Given the description of an element on the screen output the (x, y) to click on. 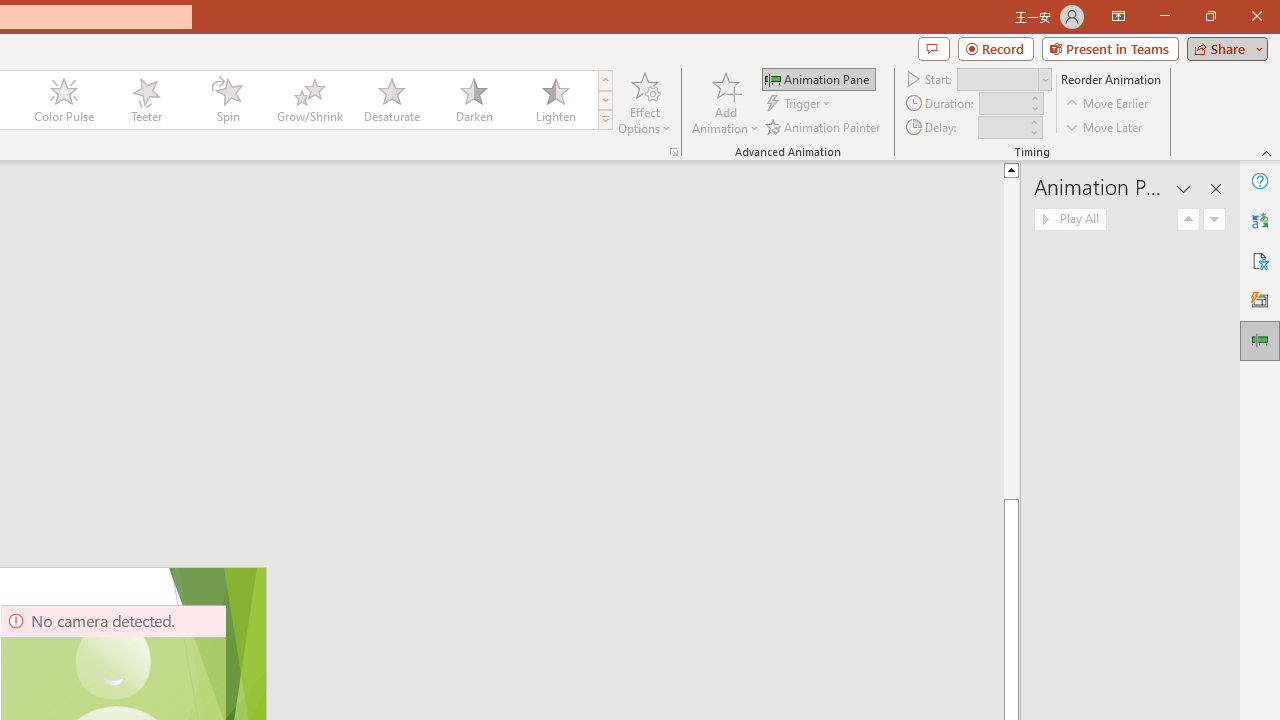
Move Up (1188, 219)
Add Animation (725, 102)
